Given the description of an element on the screen output the (x, y) to click on. 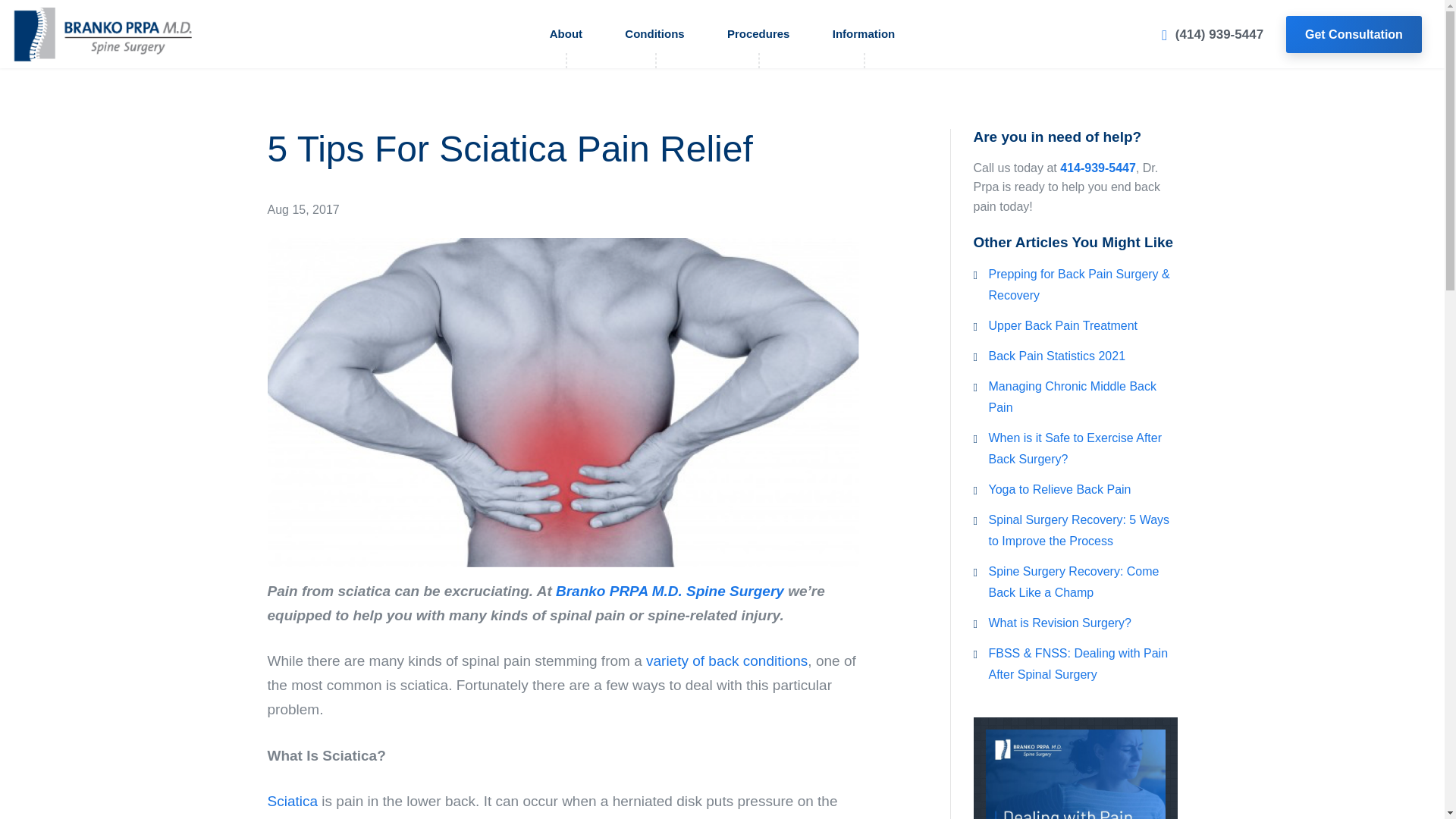
Information (863, 33)
Procedures (758, 33)
About (566, 33)
variety of back conditions (727, 660)
Sciatica (291, 801)
Branko PRPA M.D. Spine Surgery (670, 590)
Back Pain Statistics 2021 (1056, 355)
Branko PRPA M.D. (670, 590)
Conditions (655, 33)
414-939-5447 (1097, 167)
Sciatica (291, 801)
Get Consultation (1353, 34)
Upper Back Pain Treatment (1063, 325)
